Given the description of an element on the screen output the (x, y) to click on. 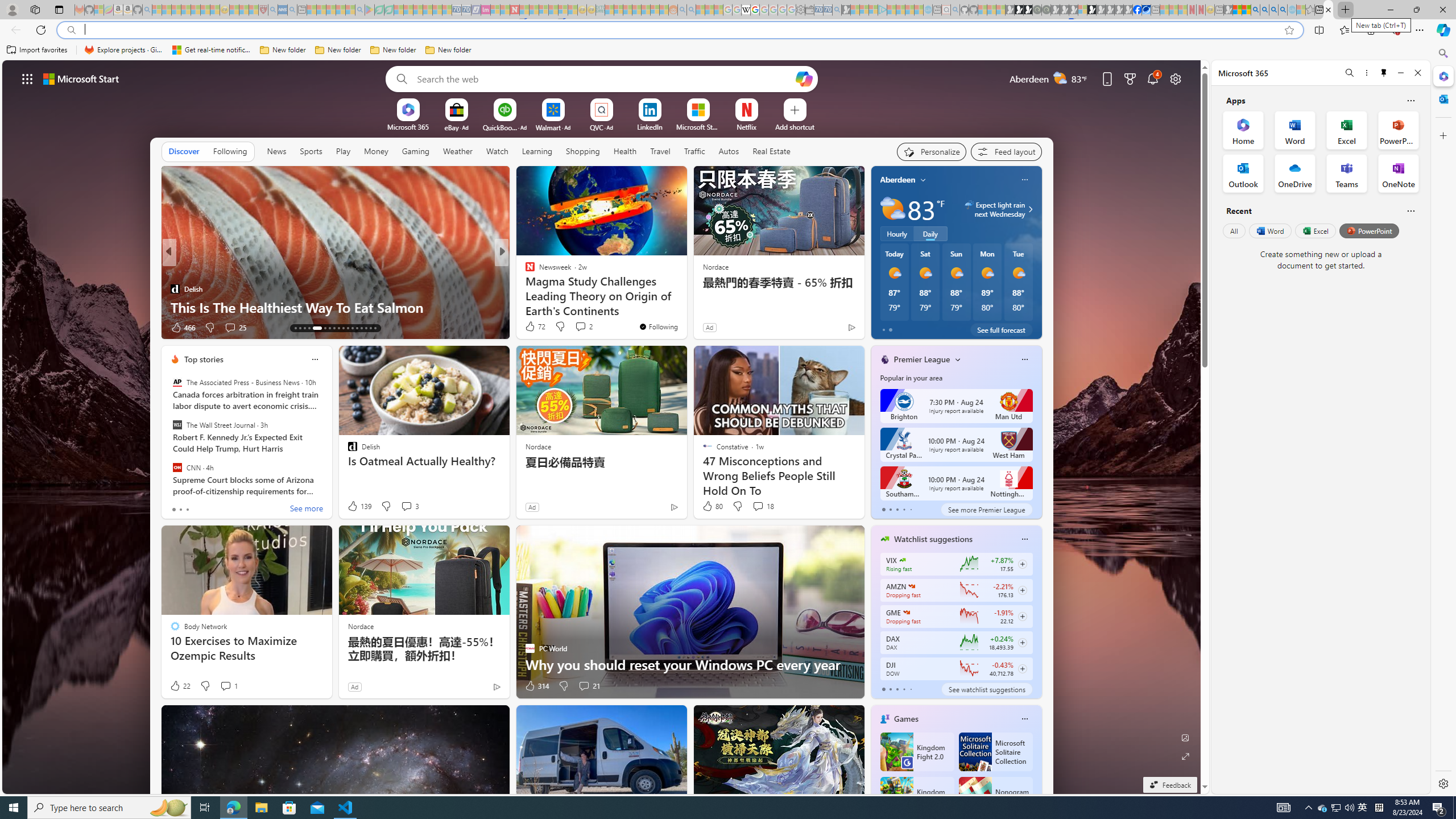
Sports (310, 151)
Weather (457, 151)
Microsoft-Report a Concern to Bing - Sleeping (98, 9)
LinkedIn (649, 126)
Kinda Frugal - MSN - Sleeping (645, 9)
